Given the description of an element on the screen output the (x, y) to click on. 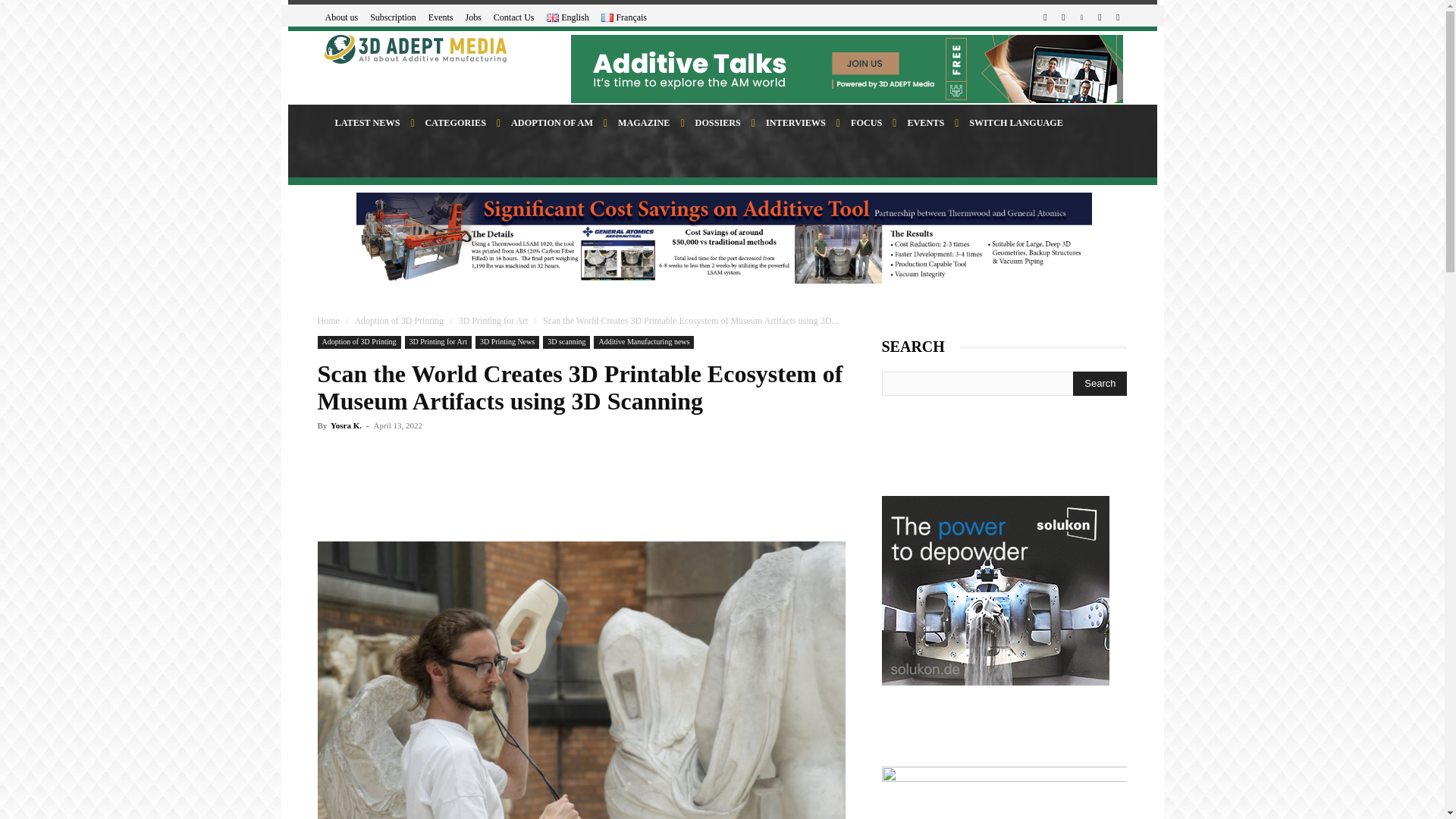
Instagram (1062, 17)
Search (1099, 383)
Linkedin (1080, 17)
Youtube (1117, 17)
Twitter (1099, 17)
Facebook (1044, 17)
